Given the description of an element on the screen output the (x, y) to click on. 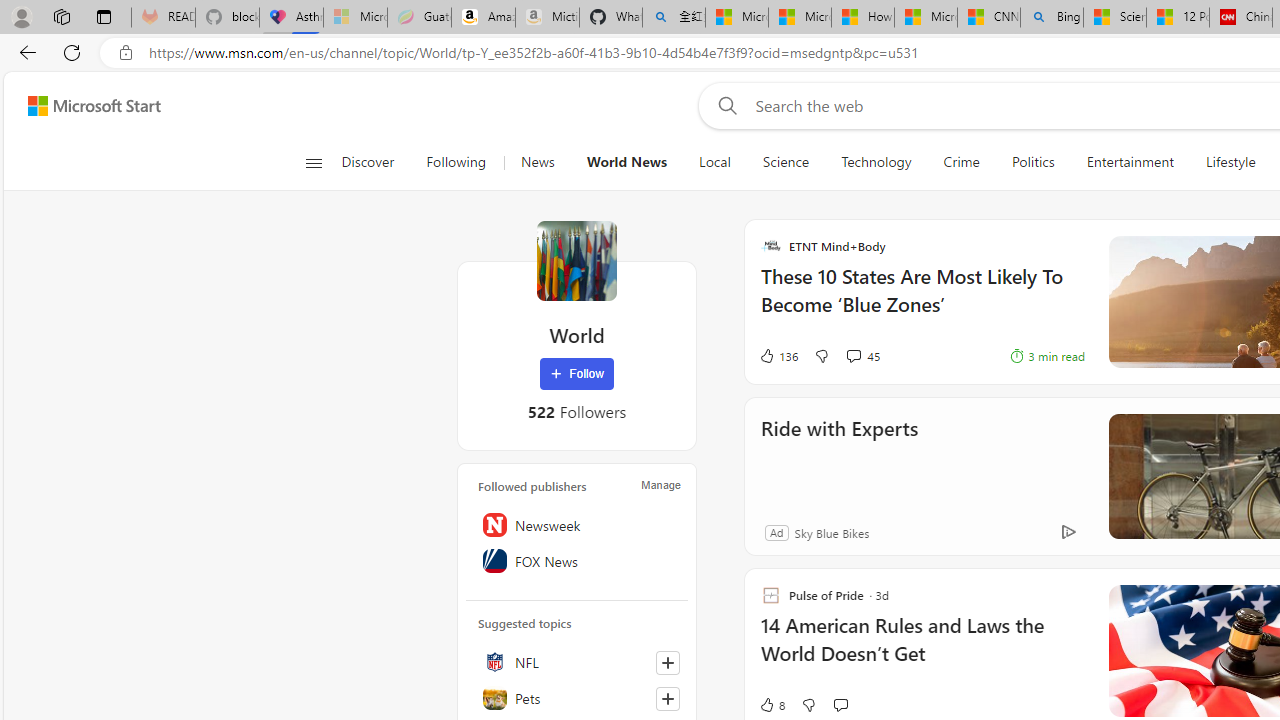
View comments 45 Comment (852, 355)
8 Like (771, 704)
